Given the description of an element on the screen output the (x, y) to click on. 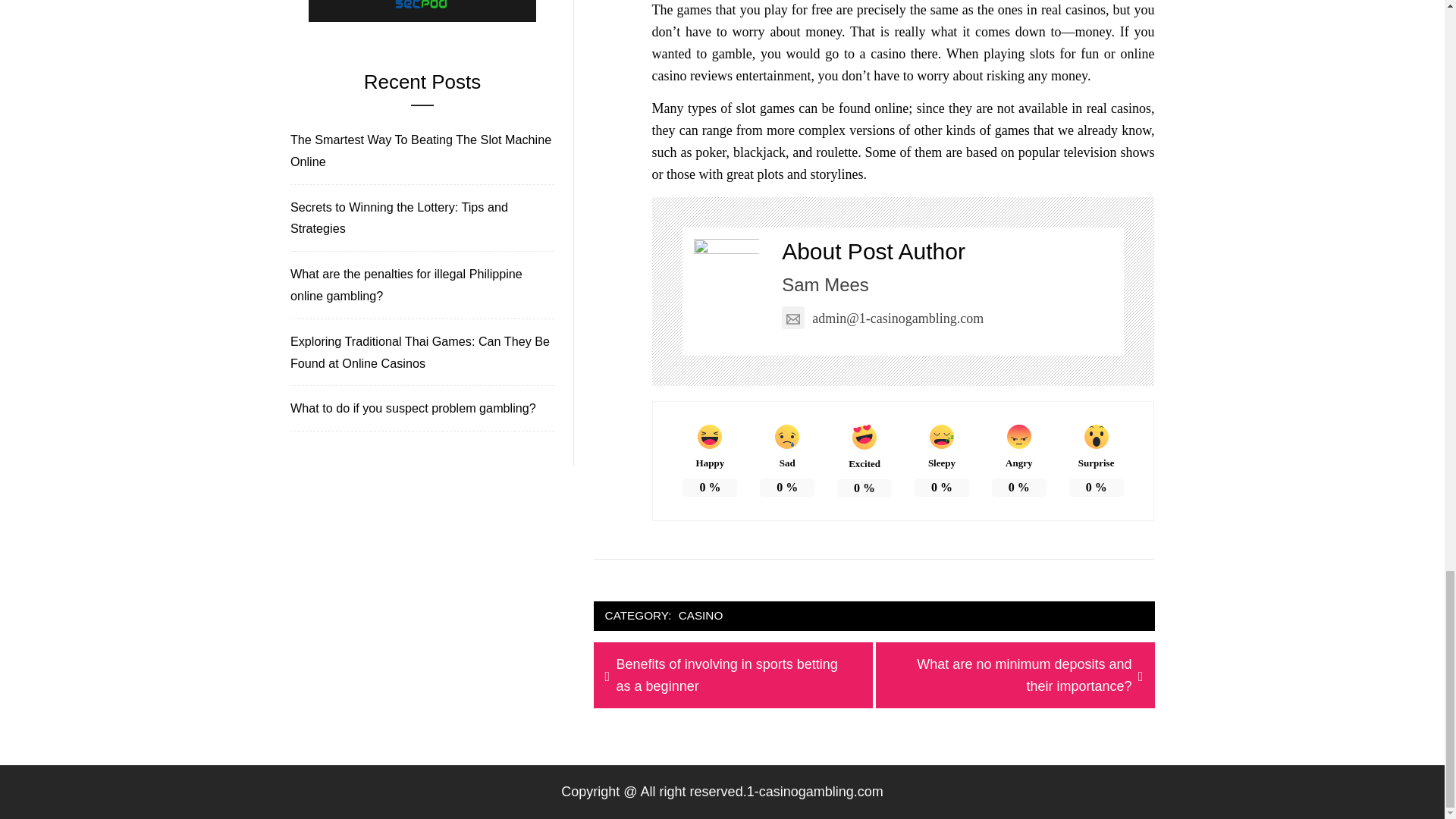
CASINO (700, 616)
Sam Mees (825, 284)
